Given the description of an element on the screen output the (x, y) to click on. 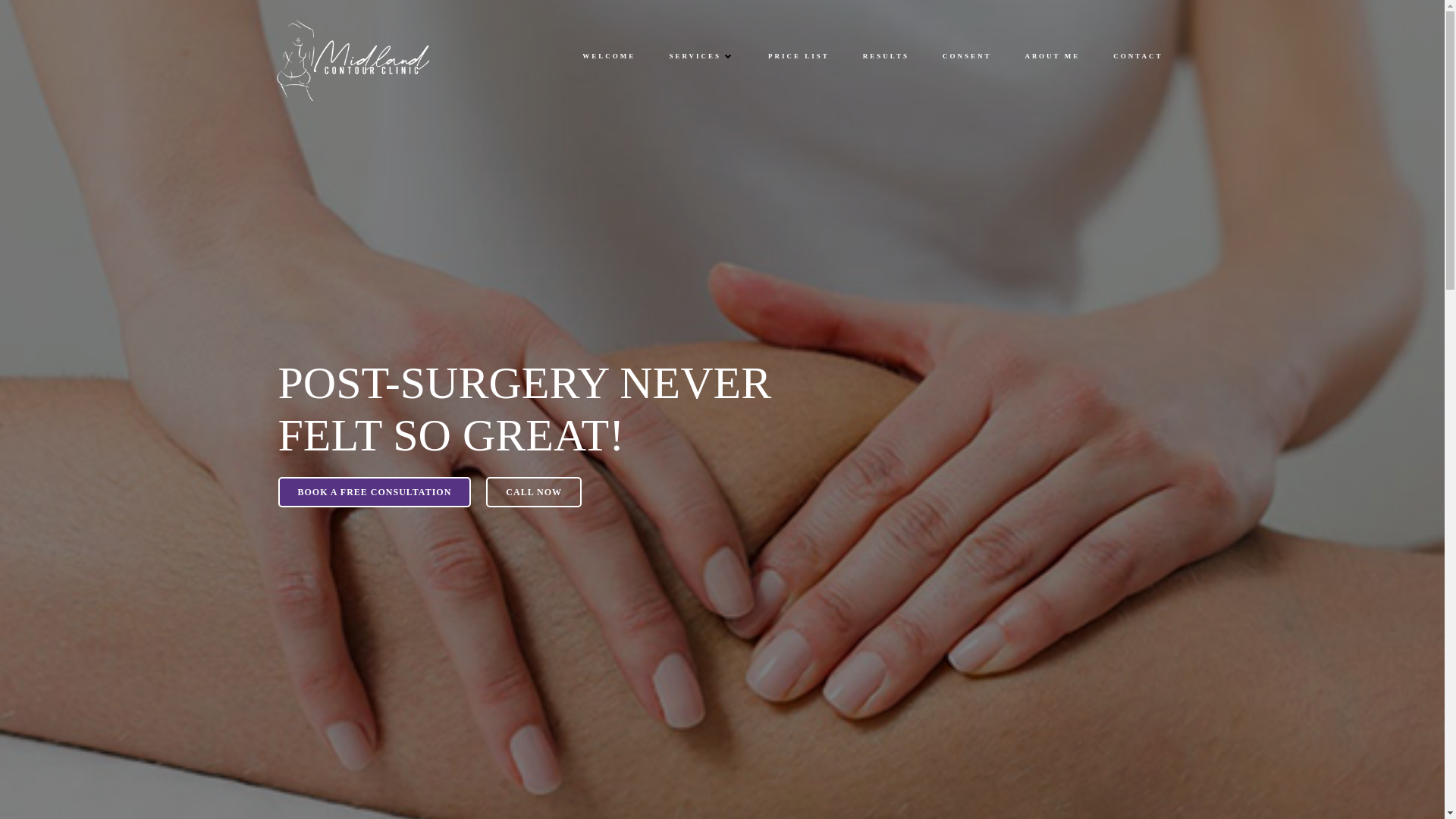
CONTACT (1137, 56)
PRICE LIST (798, 56)
WELCOME (608, 56)
ABOUT ME (1052, 56)
CALL NOW (533, 491)
RESULTS (885, 56)
CONSENT (966, 56)
SERVICES (701, 56)
BOOK A FREE CONSULTATION (374, 491)
